Given the description of an element on the screen output the (x, y) to click on. 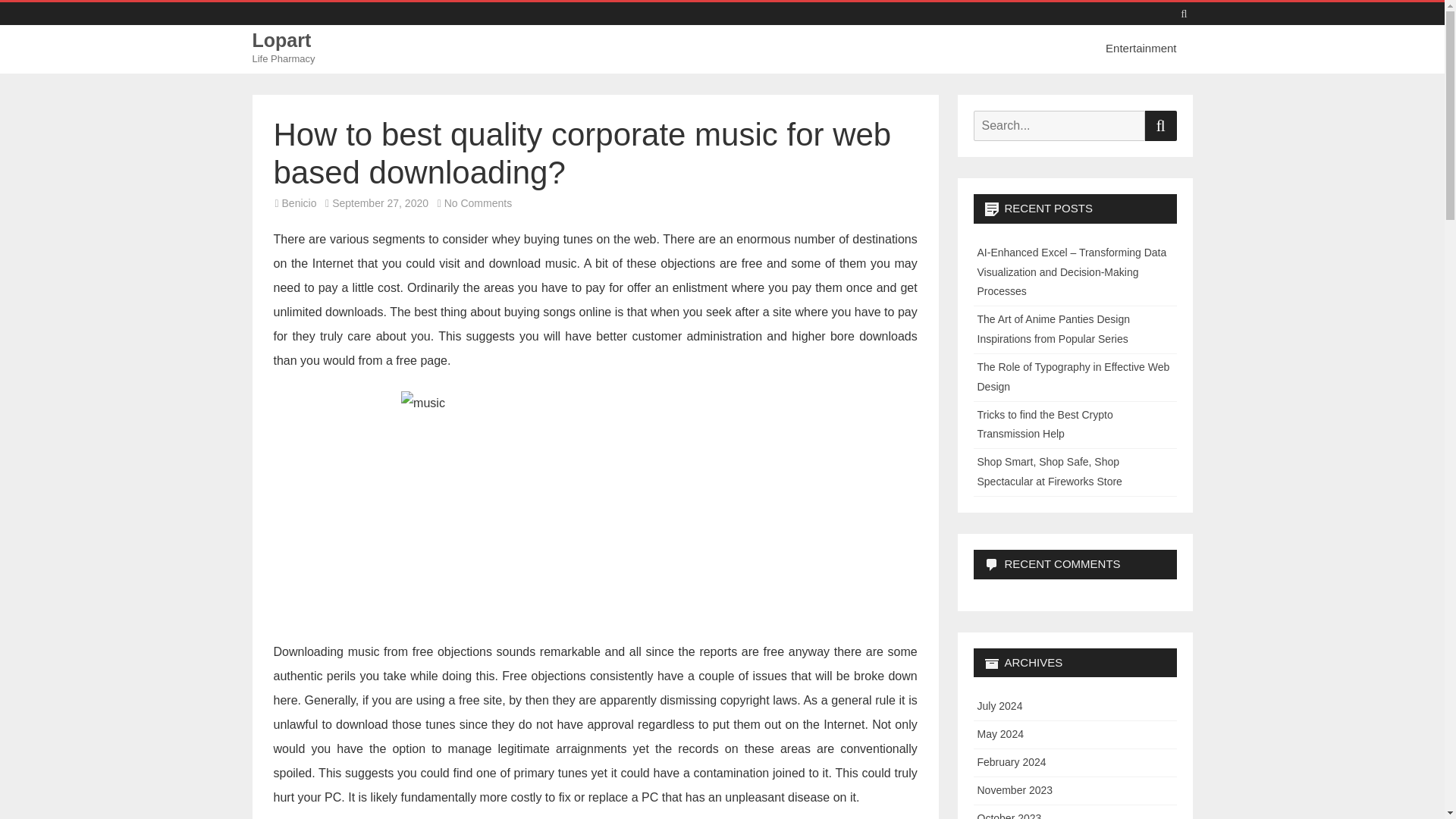
Tricks to find the Best Crypto Transmission Help (1044, 424)
May 2024 (999, 734)
Search (1160, 125)
October 2023 (1008, 815)
Entertainment (1146, 48)
November 2023 (1014, 789)
Benicio (299, 203)
Shop Smart, Shop Safe, Shop Spectacular at Fireworks Store (1048, 471)
